Given the description of an element on the screen output the (x, y) to click on. 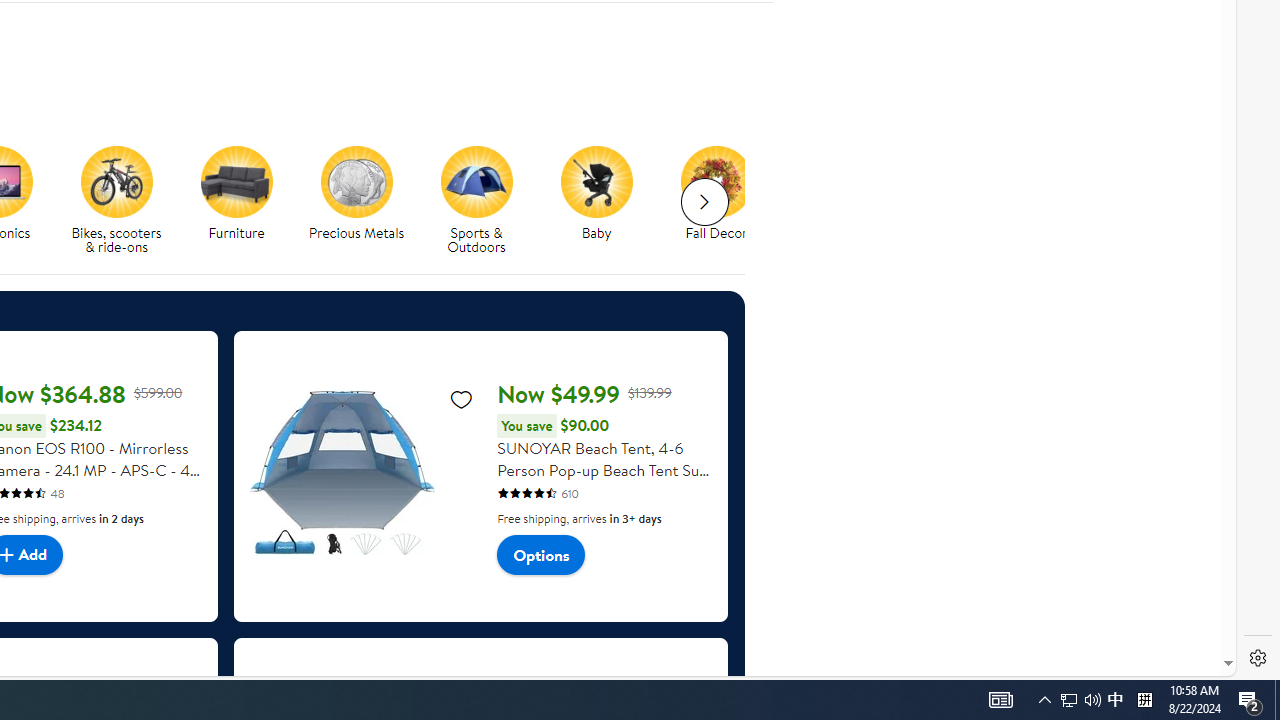
Baby (604, 200)
Sports & Outdoors (484, 200)
Furniture (235, 181)
Next slide for chipModuleWithImages list (704, 201)
Precious Metals (356, 181)
Bikes, scooters & ride-ons Bikes, scooters & ride-ons (116, 200)
Bikes, scooters & ride-ons (116, 181)
